Given the description of an element on the screen output the (x, y) to click on. 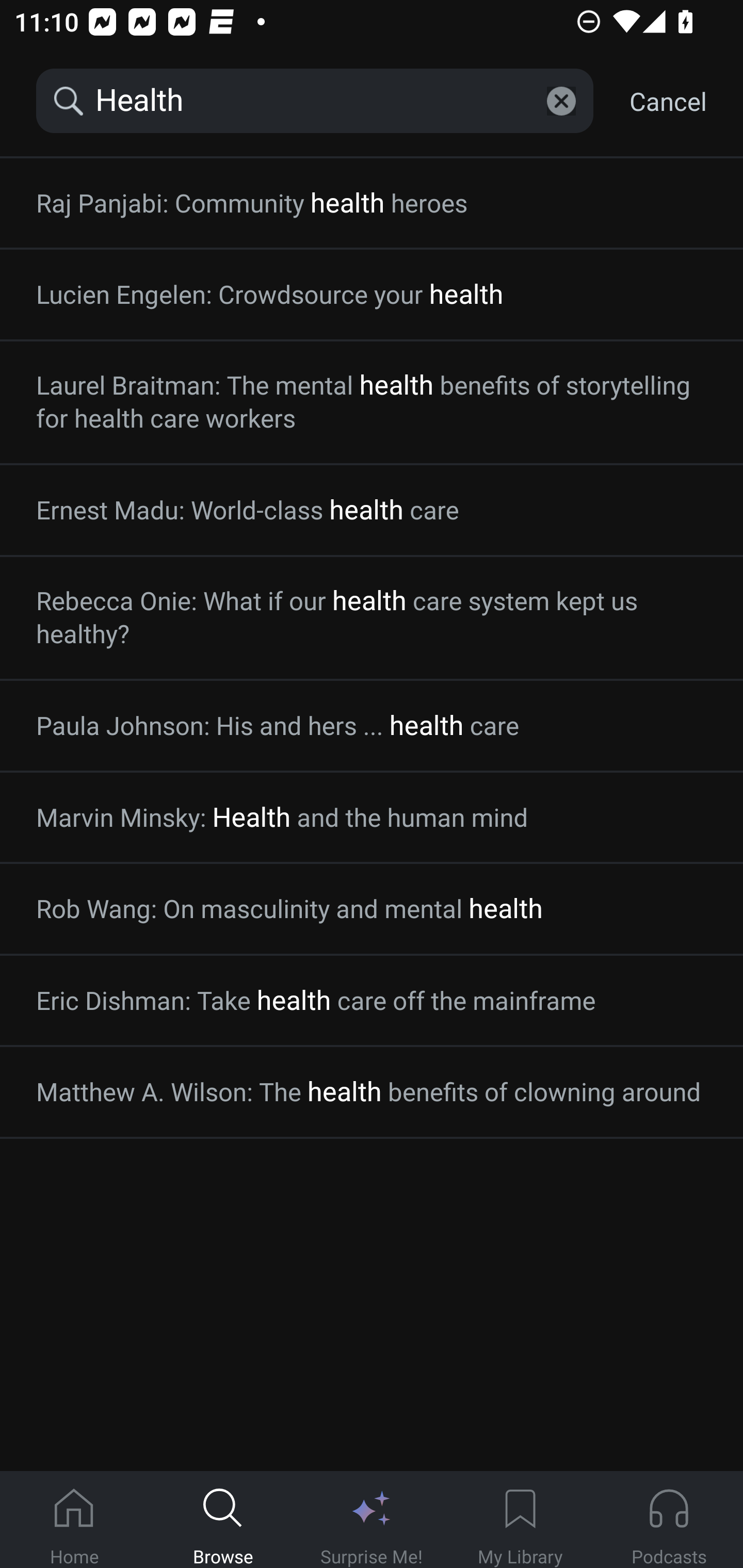
Health (314, 100)
Cancel (667, 100)
Raj Panjabi: Community health heroes (371, 202)
Lucien Engelen: Crowdsource your health (371, 293)
Ernest Madu: World-class health care (371, 510)
Paula Johnson: His and hers ... health care (371, 724)
Marvin Minsky: Health and the human mind (371, 817)
Rob Wang: On masculinity and mental health (371, 908)
Eric Dishman: Take health care off the mainframe (371, 1000)
Home (74, 1520)
Browse (222, 1520)
Surprise Me! (371, 1520)
My Library (519, 1520)
Podcasts (668, 1520)
